Given the description of an element on the screen output the (x, y) to click on. 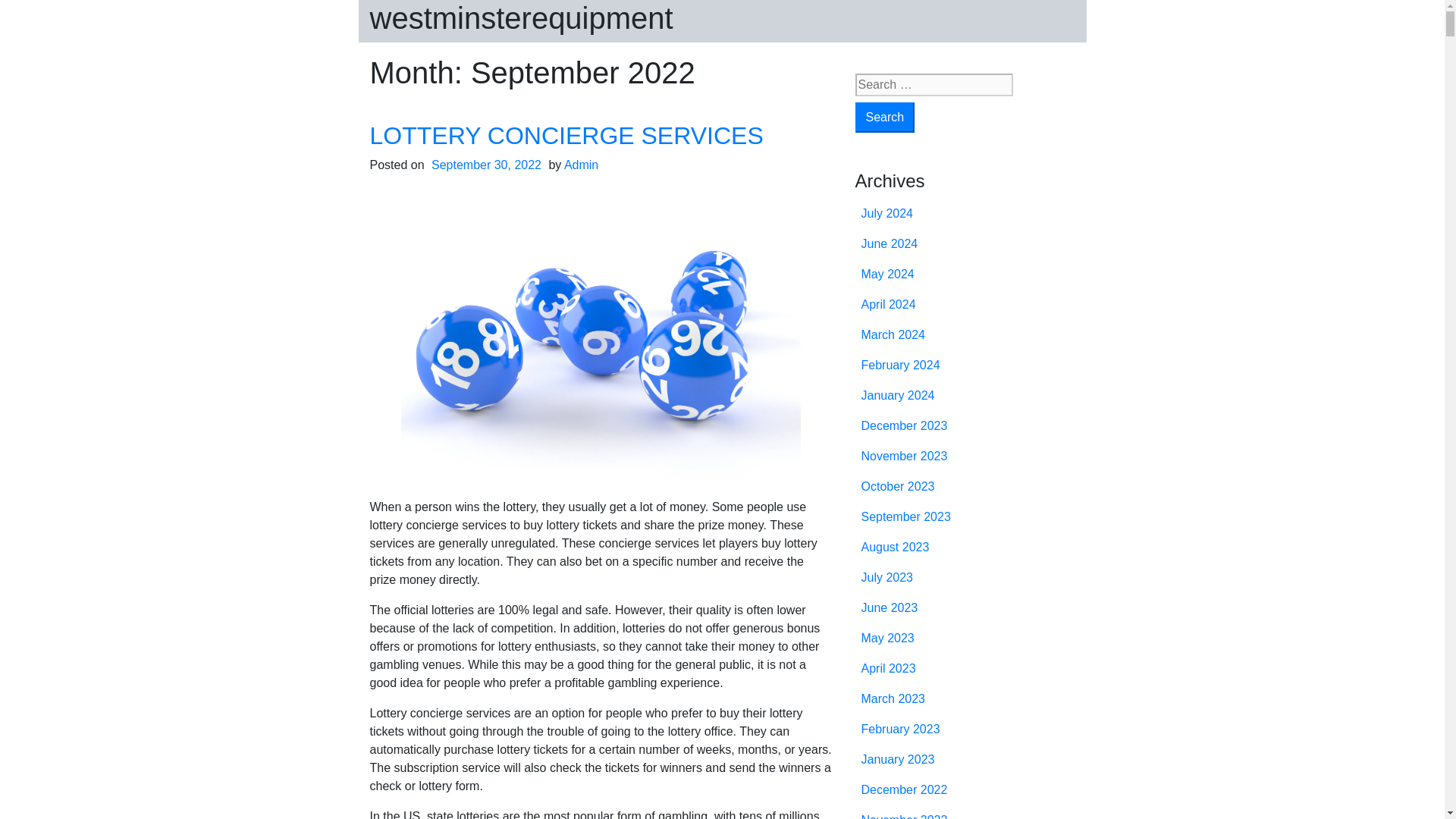
September 30, 2022 (486, 164)
Search (885, 117)
Admin (581, 164)
Search (885, 117)
westminsterequipment (520, 18)
LOTTERY CONCIERGE SERVICES (565, 135)
